Given the description of an element on the screen output the (x, y) to click on. 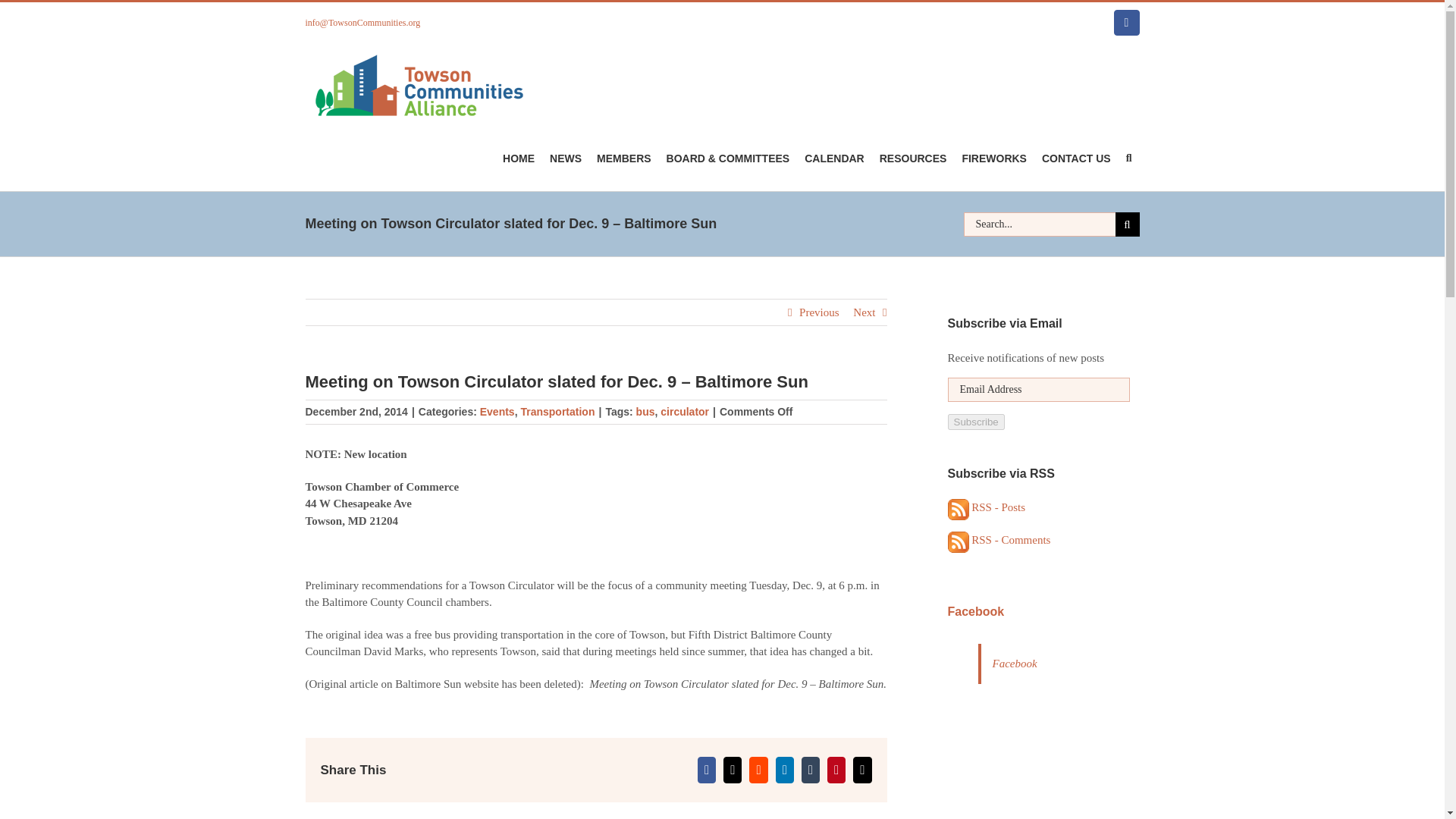
Subscribe to comments (999, 539)
CONTACT US (1075, 158)
Subscribe to posts (986, 507)
Facebook (1126, 22)
RESOURCES (913, 158)
CALENDAR (834, 158)
MEMBERS (624, 158)
Previous (819, 312)
FIREWORKS (993, 158)
Facebook (1126, 22)
